Given the description of an element on the screen output the (x, y) to click on. 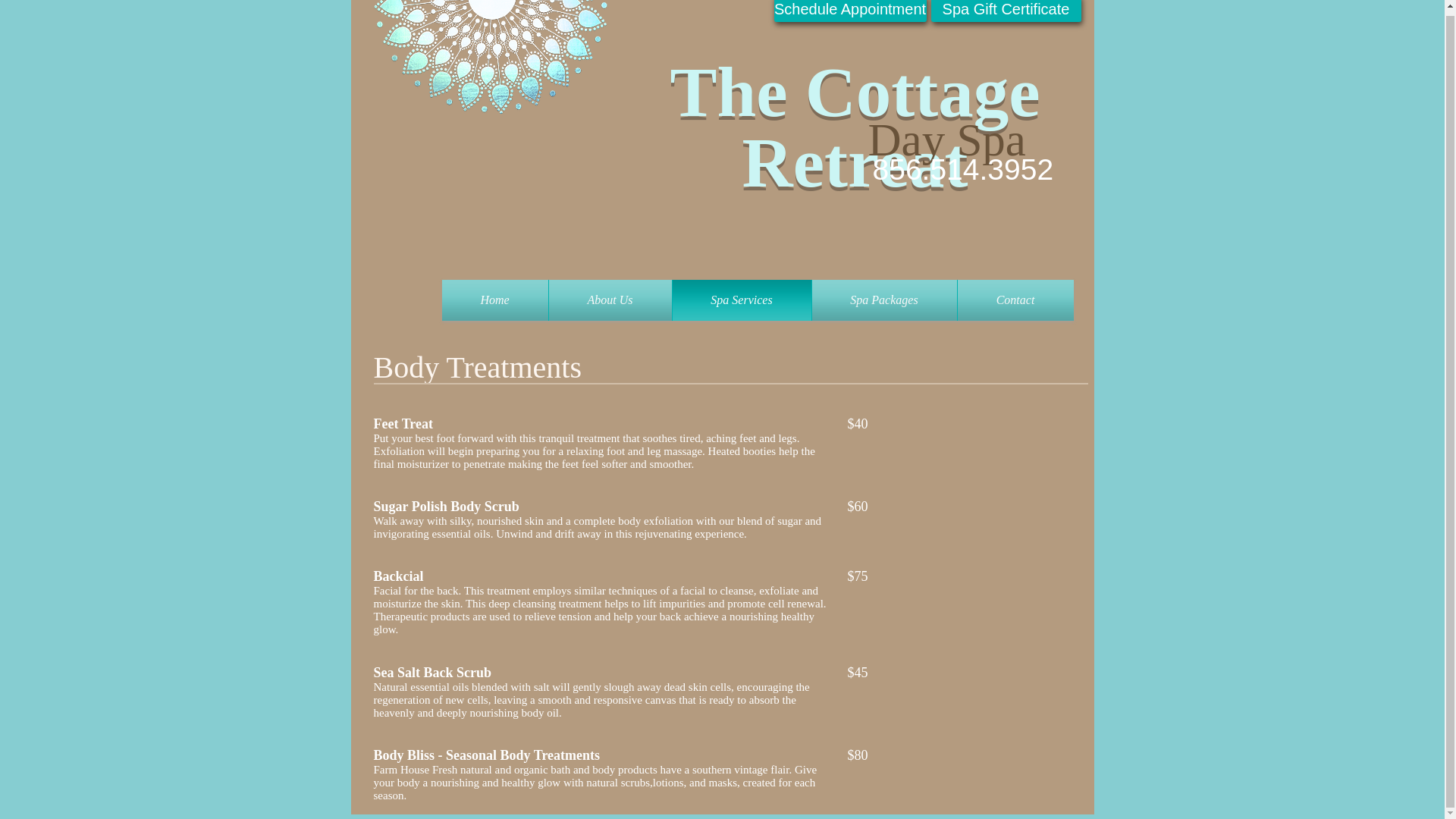
Spa Gift Certificate (1006, 11)
856.514.3952 (962, 169)
Contact (1014, 300)
Schedule Appointment (849, 11)
Home (494, 300)
Spa Services (740, 300)
Spa Packages (883, 300)
About Us (609, 300)
